Given the description of an element on the screen output the (x, y) to click on. 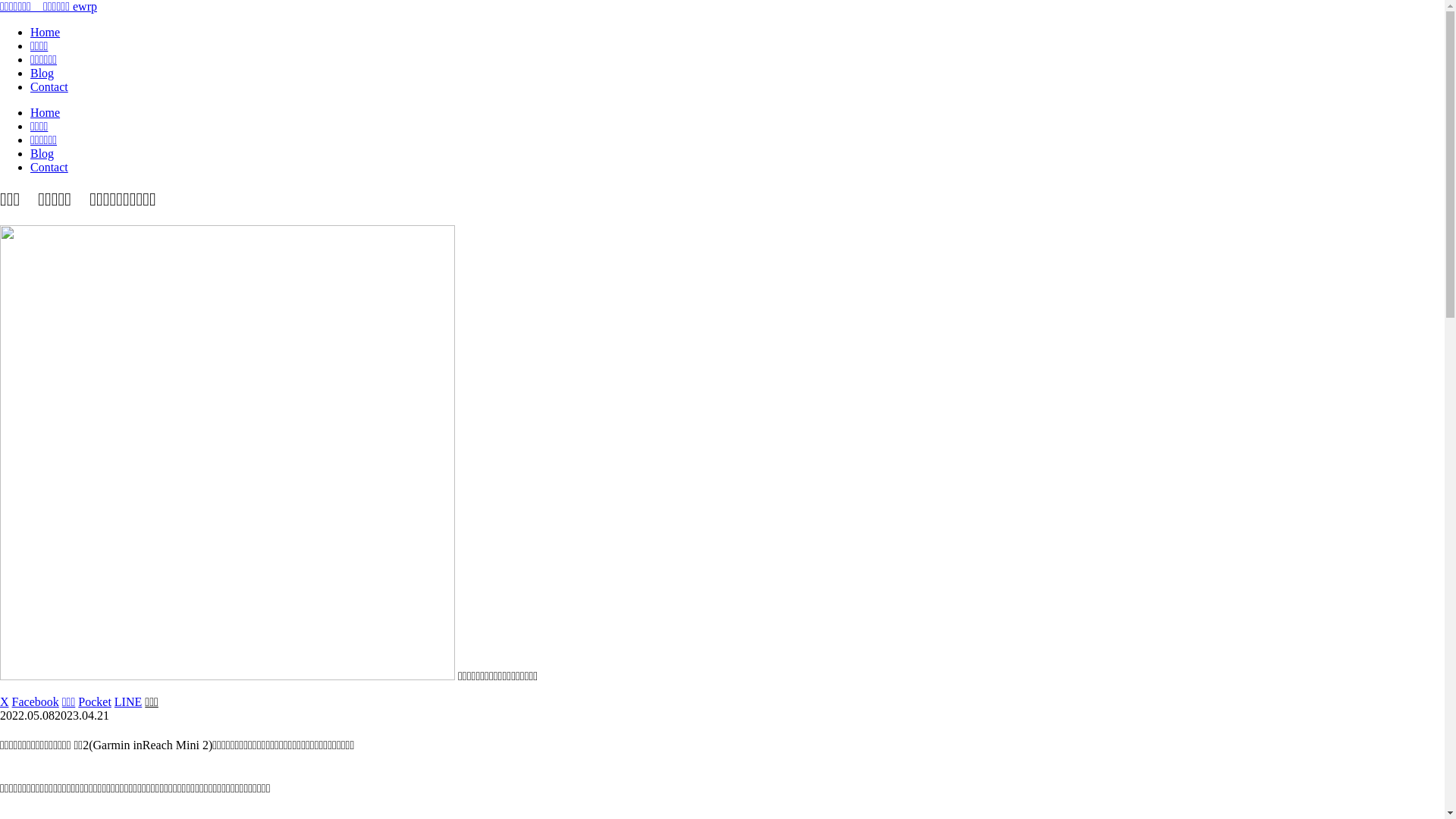
Blog Element type: text (737, 73)
Contact Element type: text (737, 87)
Home Element type: text (737, 32)
Facebook Element type: text (35, 701)
Blog Element type: text (737, 153)
LINE Element type: text (127, 701)
X Element type: text (4, 701)
Home Element type: text (737, 112)
Contact Element type: text (737, 167)
Pocket Element type: text (94, 701)
